Given the description of an element on the screen output the (x, y) to click on. 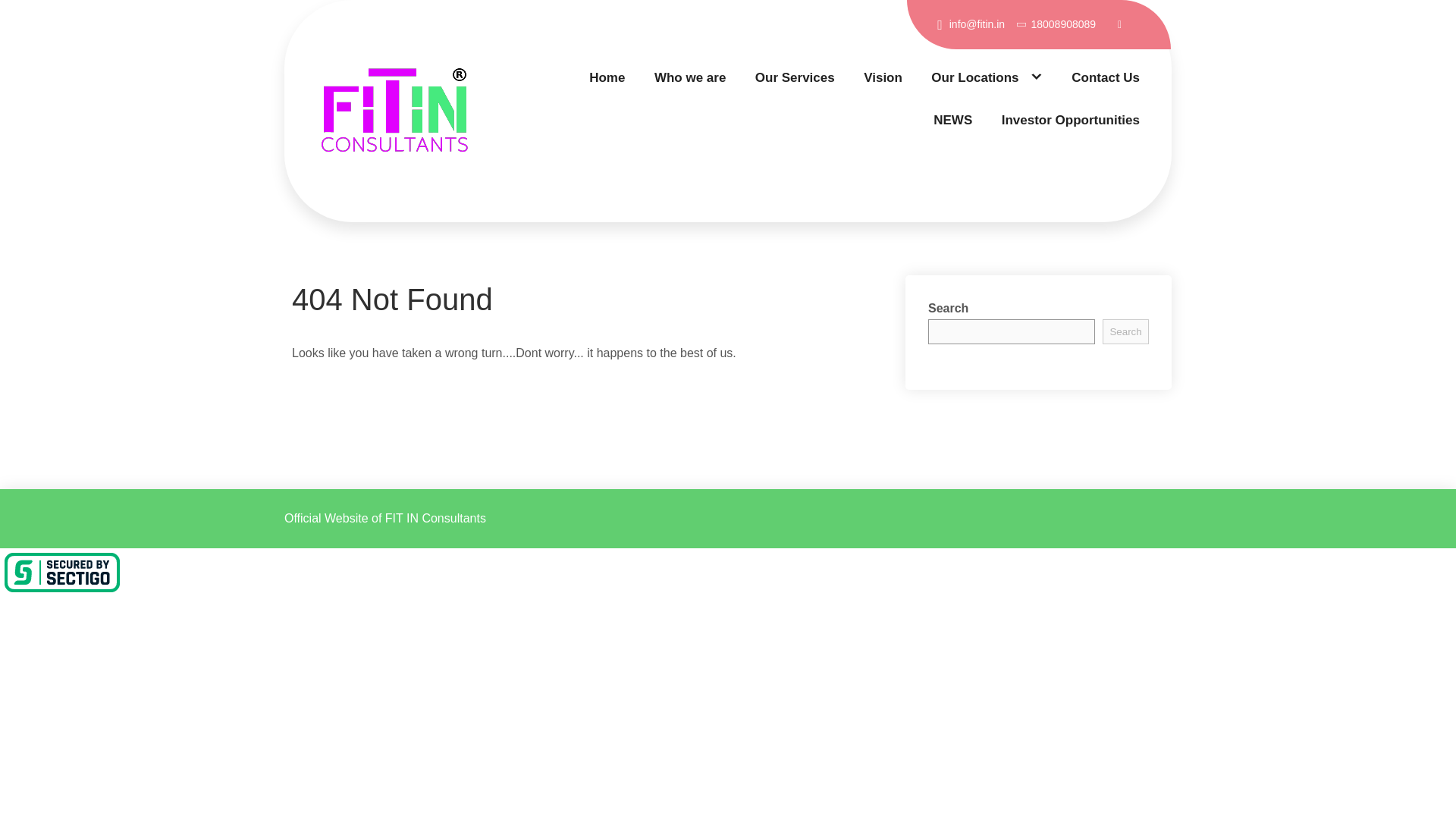
Who we are (689, 77)
NEWS (952, 120)
FIT IN CONSULTANTS (412, 220)
Home (606, 77)
Investor Opportunities (1070, 120)
Contact Us (1105, 77)
Our Locations (986, 77)
Our Services (794, 77)
Search (1125, 331)
Vision (882, 77)
